Given the description of an element on the screen output the (x, y) to click on. 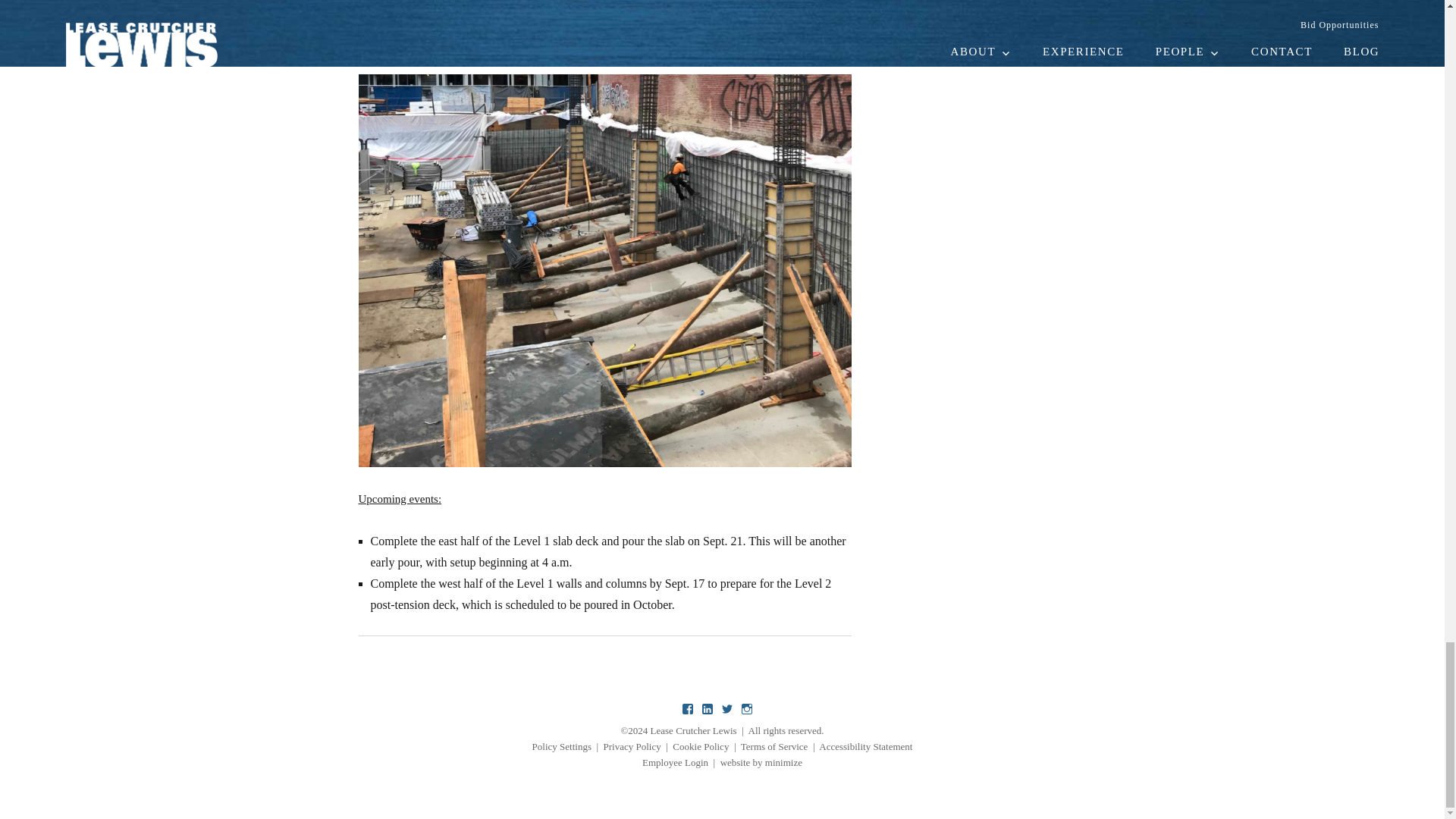
Terms of Service (774, 746)
Employee Login (674, 762)
LinkedIn (707, 709)
Accessibility Statement (865, 746)
Policy Settings (561, 746)
Instagram (746, 709)
Facebook (688, 709)
Privacy Policy (632, 746)
Cookie Policy (700, 746)
Lease Crutcher Lewis (693, 730)
